Given the description of an element on the screen output the (x, y) to click on. 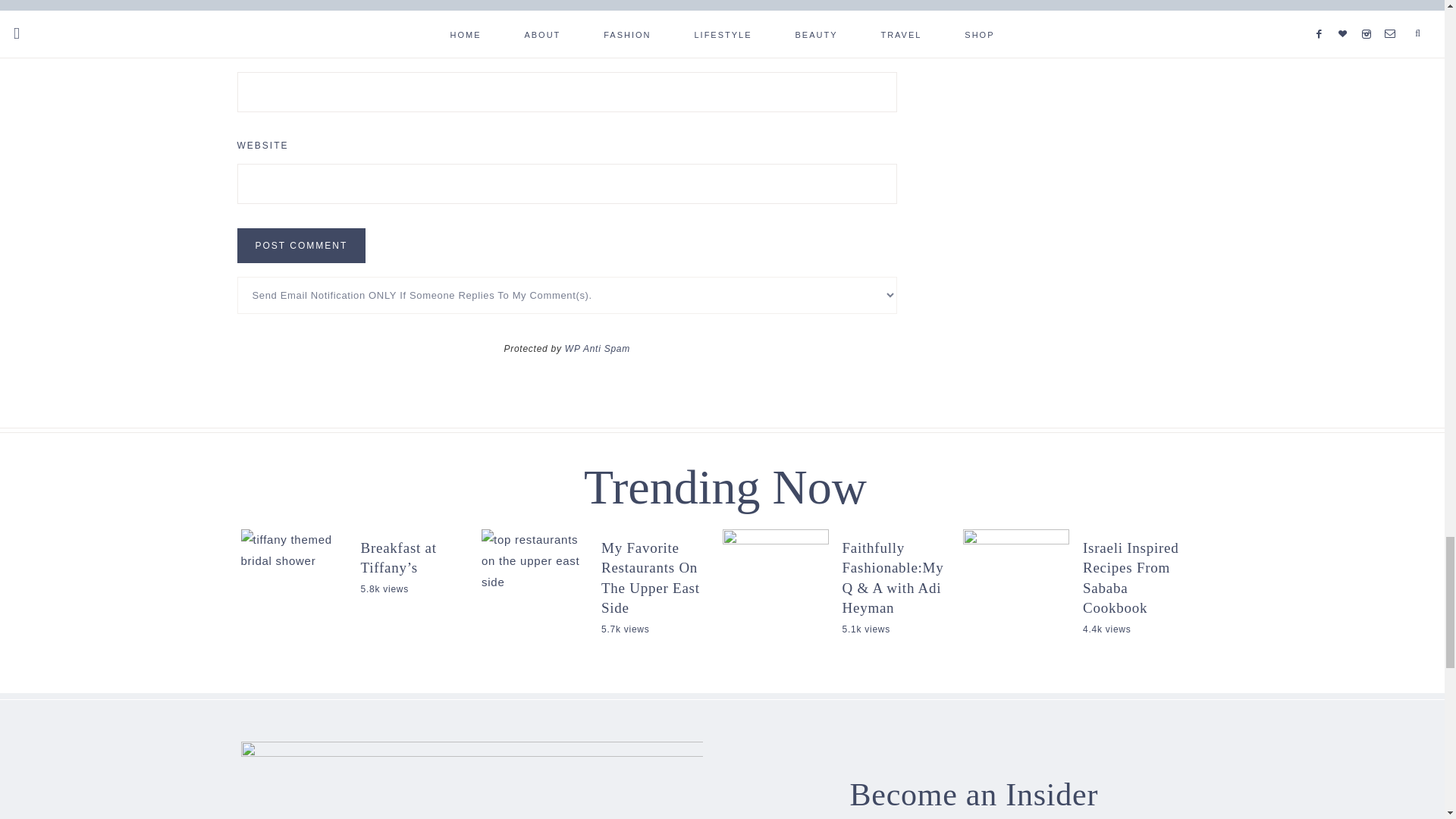
Post Comment (300, 245)
